Given the description of an element on the screen output the (x, y) to click on. 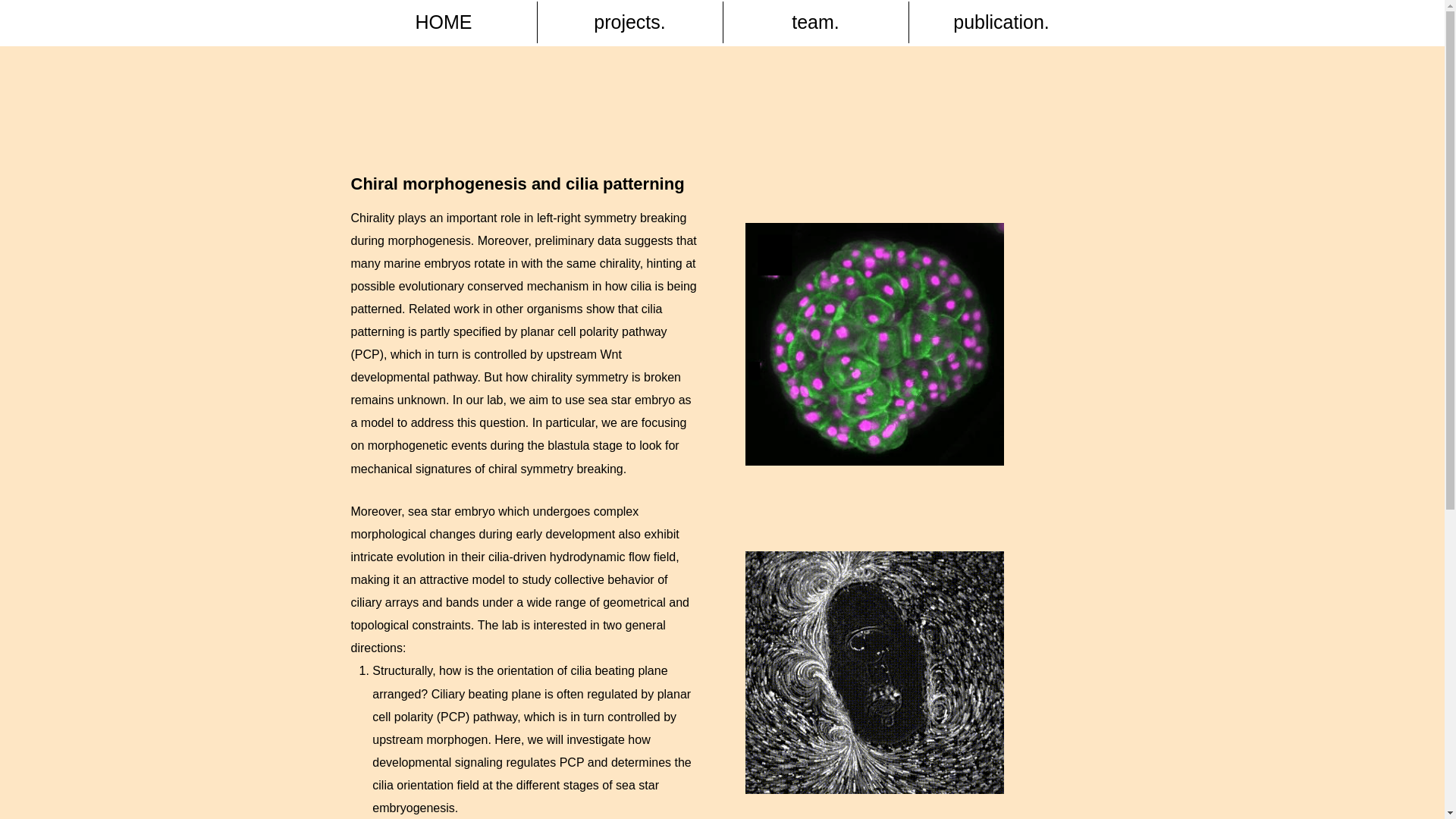
team. (815, 22)
HOME (442, 22)
publication. (1000, 22)
projects. (629, 22)
